Given the description of an element on the screen output the (x, y) to click on. 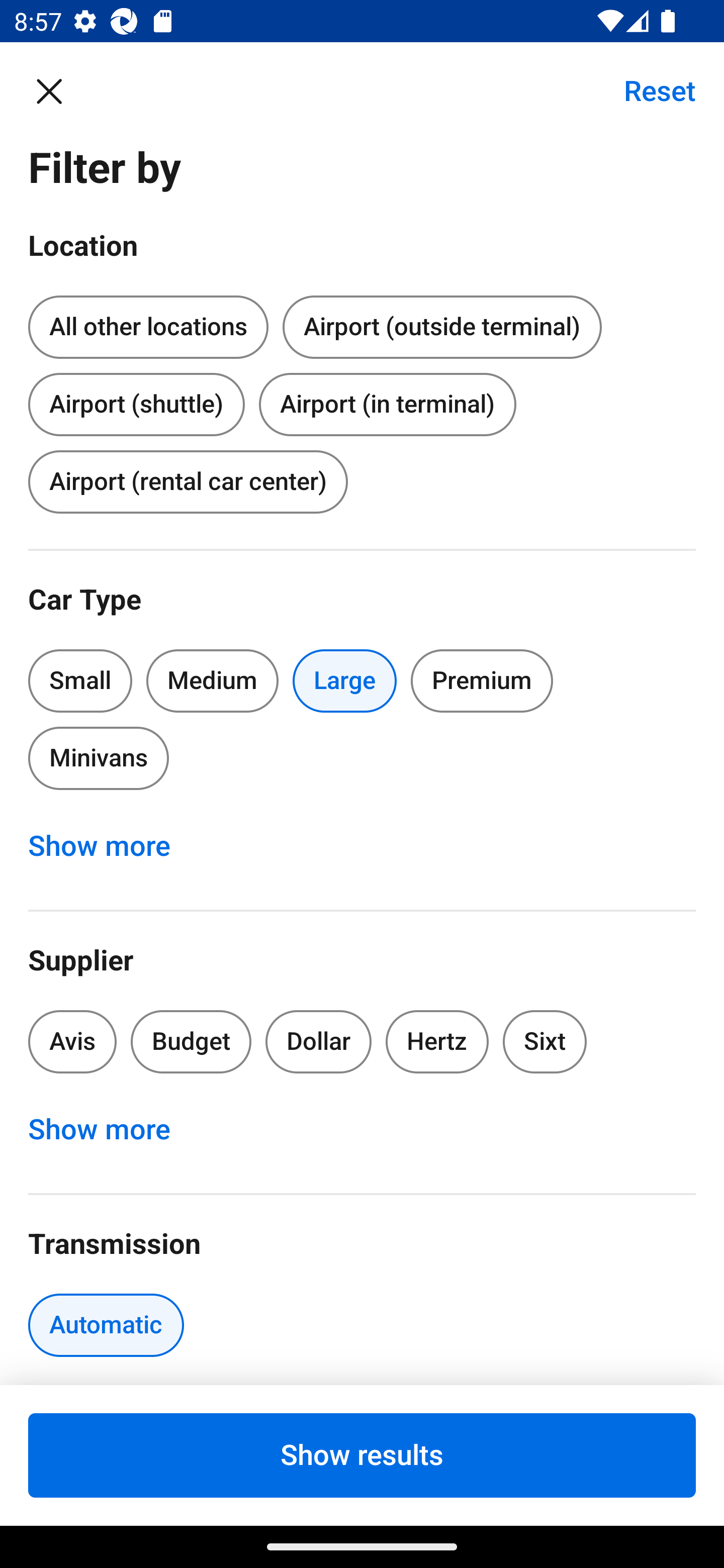
Close (59, 90)
Reset (649, 90)
All other locations (148, 327)
Airport (outside terminal) (441, 327)
Airport (shuttle) (136, 400)
Airport (in terminal) (387, 404)
Airport (rental car center) (187, 481)
Small (80, 680)
Medium (212, 680)
Premium (482, 680)
Minivans (98, 758)
Show more (109, 846)
Avis (72, 1041)
Budget (191, 1041)
Dollar (318, 1041)
Hertz (437, 1041)
Sixt (544, 1041)
Show more (109, 1129)
Show results (361, 1454)
